Given the description of an element on the screen output the (x, y) to click on. 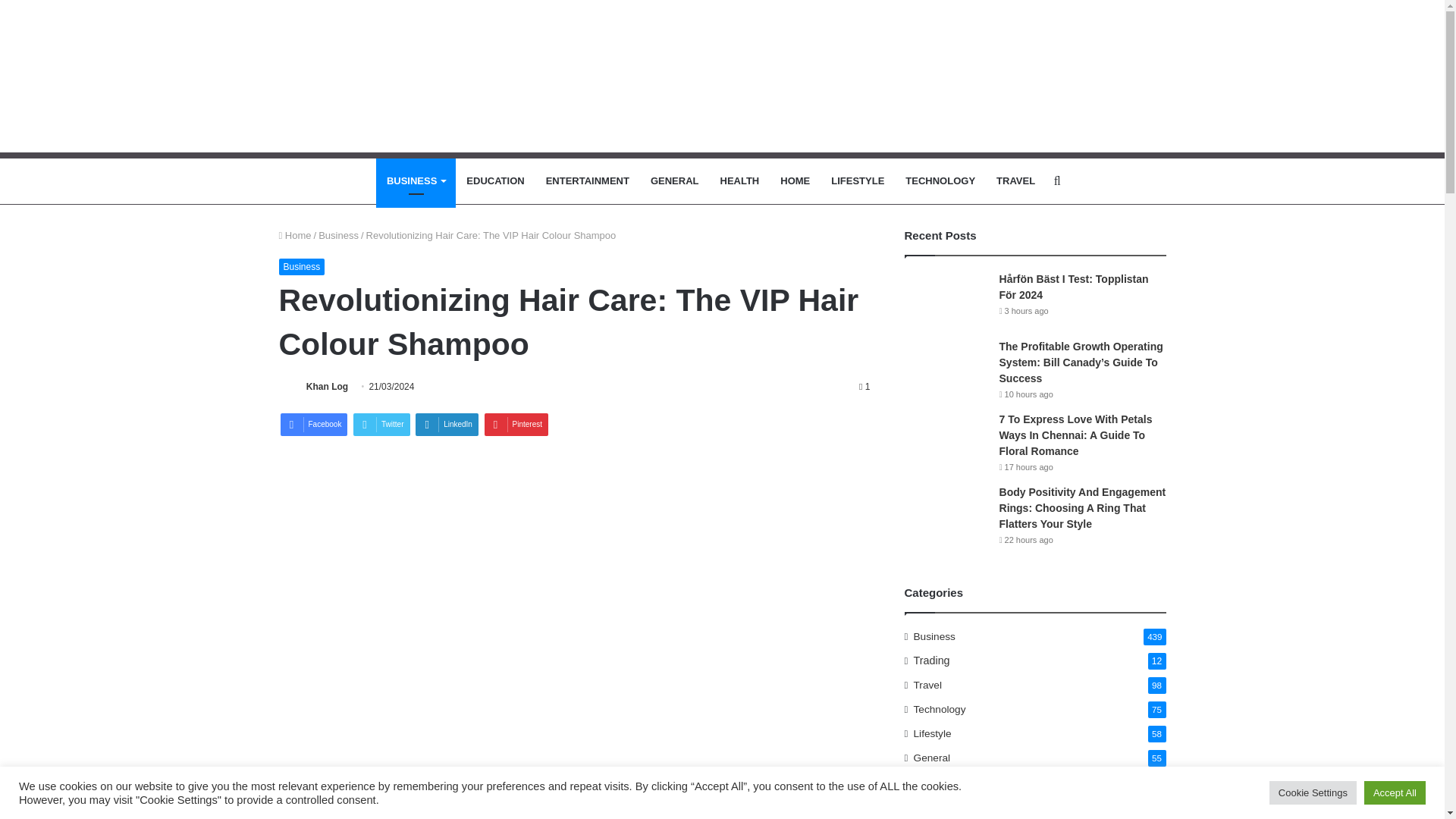
LIFESTYLE (858, 180)
Pinterest (516, 424)
Khan Log (326, 386)
Twitter (381, 424)
Business Products Depot (721, 90)
Pinterest (516, 424)
Facebook (314, 424)
Business (301, 266)
TRAVEL (1015, 180)
Home (295, 235)
Khan Log (326, 386)
HOME (795, 180)
LinkedIn (446, 424)
Business (338, 235)
BUSINESS (415, 180)
